Given the description of an element on the screen output the (x, y) to click on. 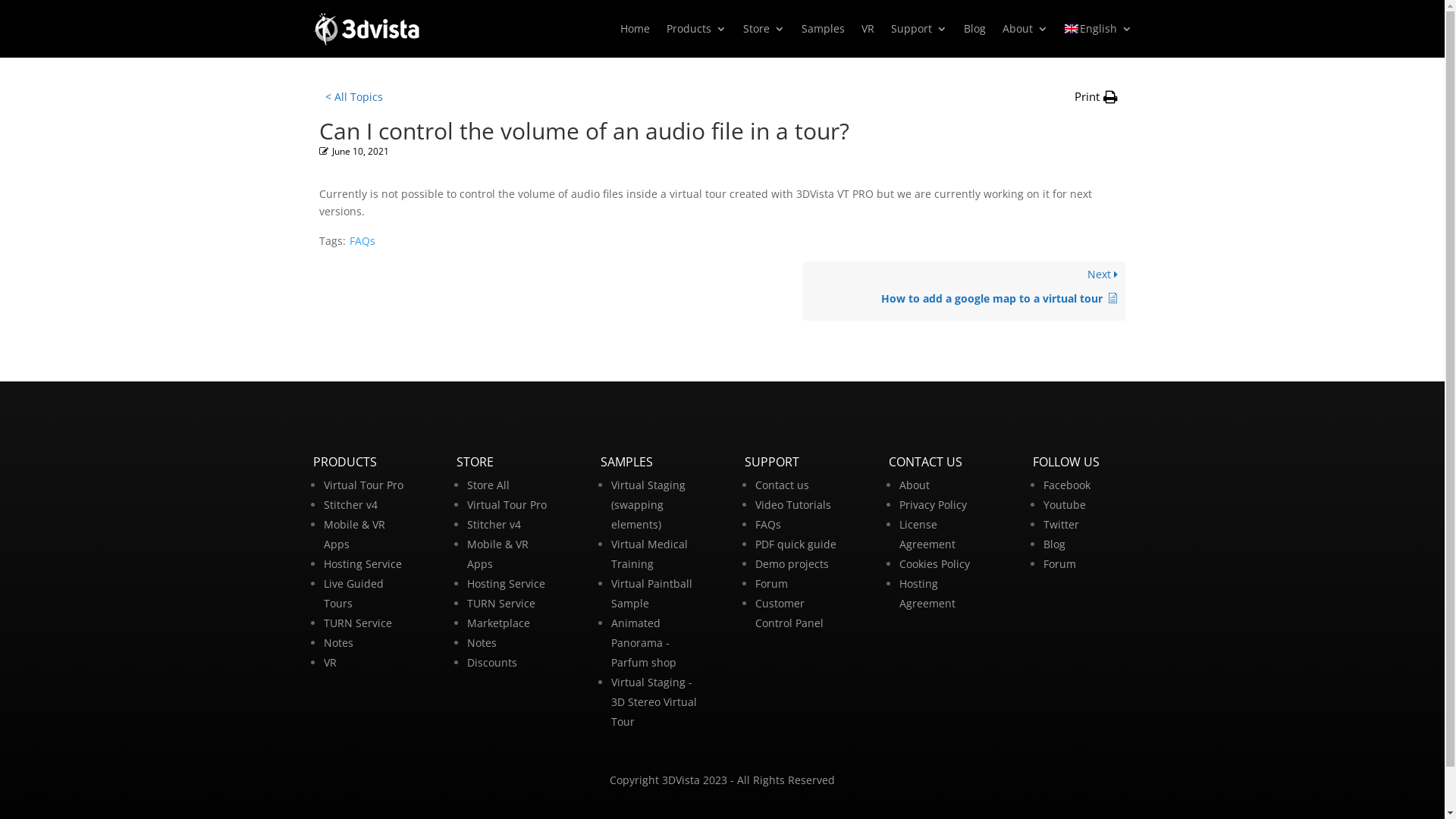
About Element type: text (1025, 28)
Discounts Element type: text (492, 662)
SUPPORT Element type: text (771, 461)
Blog Element type: text (974, 28)
Animated Panorama - Parfum shop Element type: text (643, 642)
About Element type: text (914, 484)
Marketplace Element type: text (498, 622)
Live Guided Tours Element type: text (352, 593)
Virtual Staging - 3D Stereo Virtual Tour Element type: text (653, 701)
Contact us Element type: text (782, 484)
Privacy Policy Element type: text (932, 504)
Blog Element type: text (1054, 543)
TURN Service Element type: text (357, 622)
Demo projects Element type: text (791, 563)
Twitter Element type: text (1061, 524)
CONTACT US Element type: text (925, 461)
Stitcher v4 Element type: text (349, 504)
FAQs Element type: text (362, 240)
English Element type: text (1098, 28)
Facebook Element type: text (1066, 484)
Hosting Service Element type: text (362, 563)
Notes Element type: text (481, 642)
VR Element type: text (329, 662)
Store Element type: text (763, 28)
Notes Element type: text (337, 642)
PRODUCTS Element type: text (344, 461)
Virtual Medical Training Element type: text (649, 553)
Samples Element type: text (822, 28)
License Agreement Element type: text (927, 534)
Support Element type: text (918, 28)
Youtube Element type: text (1064, 504)
Cookies Policy Element type: text (934, 563)
Customer Control Panel Element type: text (789, 613)
Hosting Service Element type: text (506, 583)
Virtual Staging (swapping elements) Element type: text (648, 504)
STORE Element type: text (474, 461)
Hosting Agreement Element type: text (927, 593)
VR Element type: text (867, 28)
Next
How to add a google map to a virtual tour Element type: text (964, 290)
Virtual Paintball Sample Element type: text (651, 593)
Stitcher v4 Element type: text (493, 524)
Forum Element type: text (771, 583)
FAQs Element type: text (768, 524)
Virtual Tour Pro Element type: text (362, 484)
Home Element type: text (634, 28)
TURN Service Element type: text (501, 603)
Video Tutorials Element type: text (793, 504)
Mobile & VR Apps Element type: text (353, 534)
< All Topics Element type: text (353, 96)
Mobile & VR Apps Element type: text (497, 553)
SAMPLES Element type: text (626, 461)
Store All Element type: text (488, 484)
PDF quick guide Element type: text (795, 543)
Forum Element type: text (1059, 563)
Virtual Tour Pro Element type: text (506, 504)
Products Element type: text (695, 28)
